Given the description of an element on the screen output the (x, y) to click on. 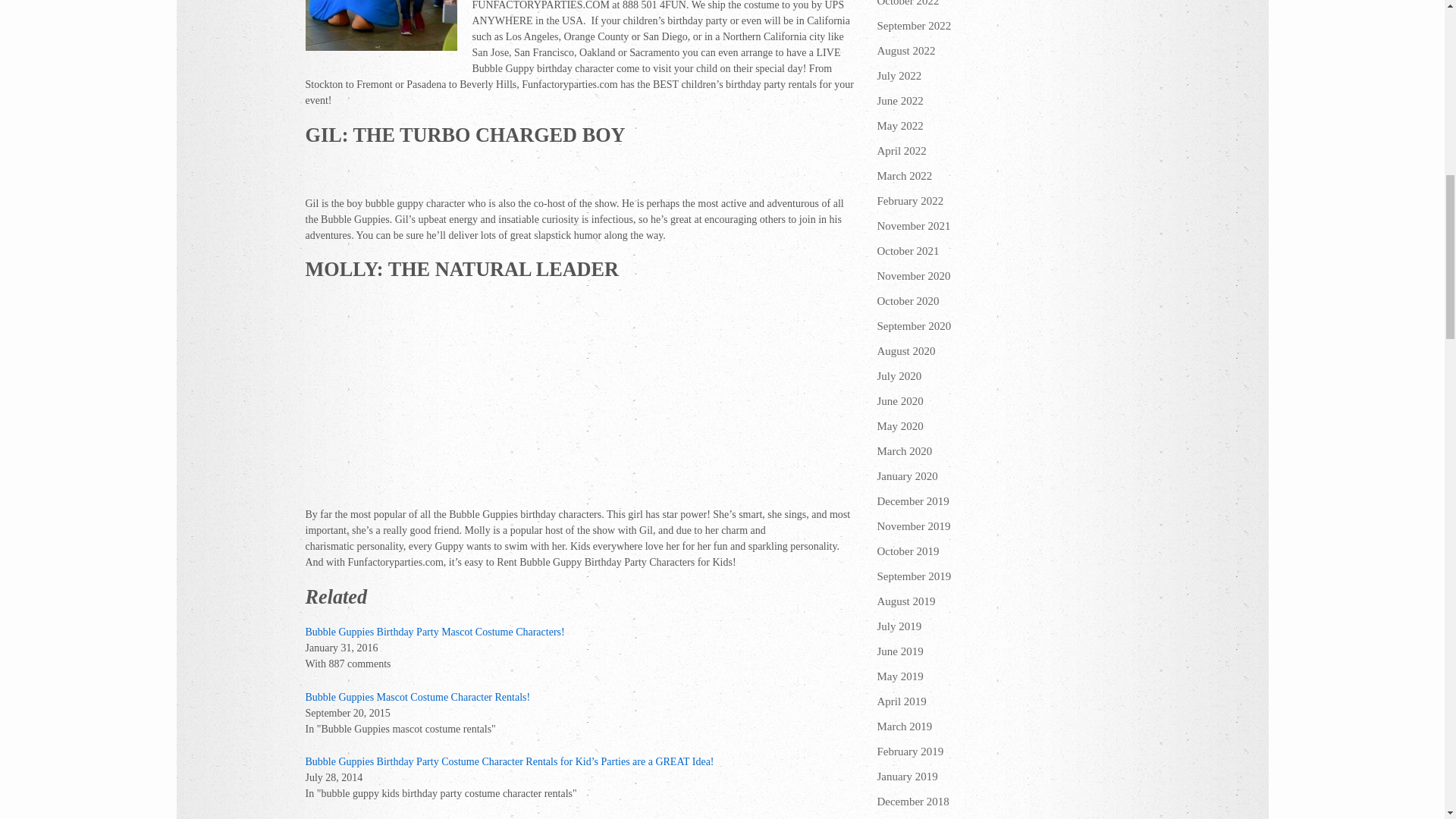
Bubble Guppies Birthday Party Mascot Costume Characters! (434, 632)
Bubble Guppies Mascot Costume Character Rentals! (416, 696)
Bubble Guppies Mascot Costume Character Rentals! (416, 696)
Bubble Guppies Birthday Party Mascot Costume Characters! (434, 632)
